Given the description of an element on the screen output the (x, y) to click on. 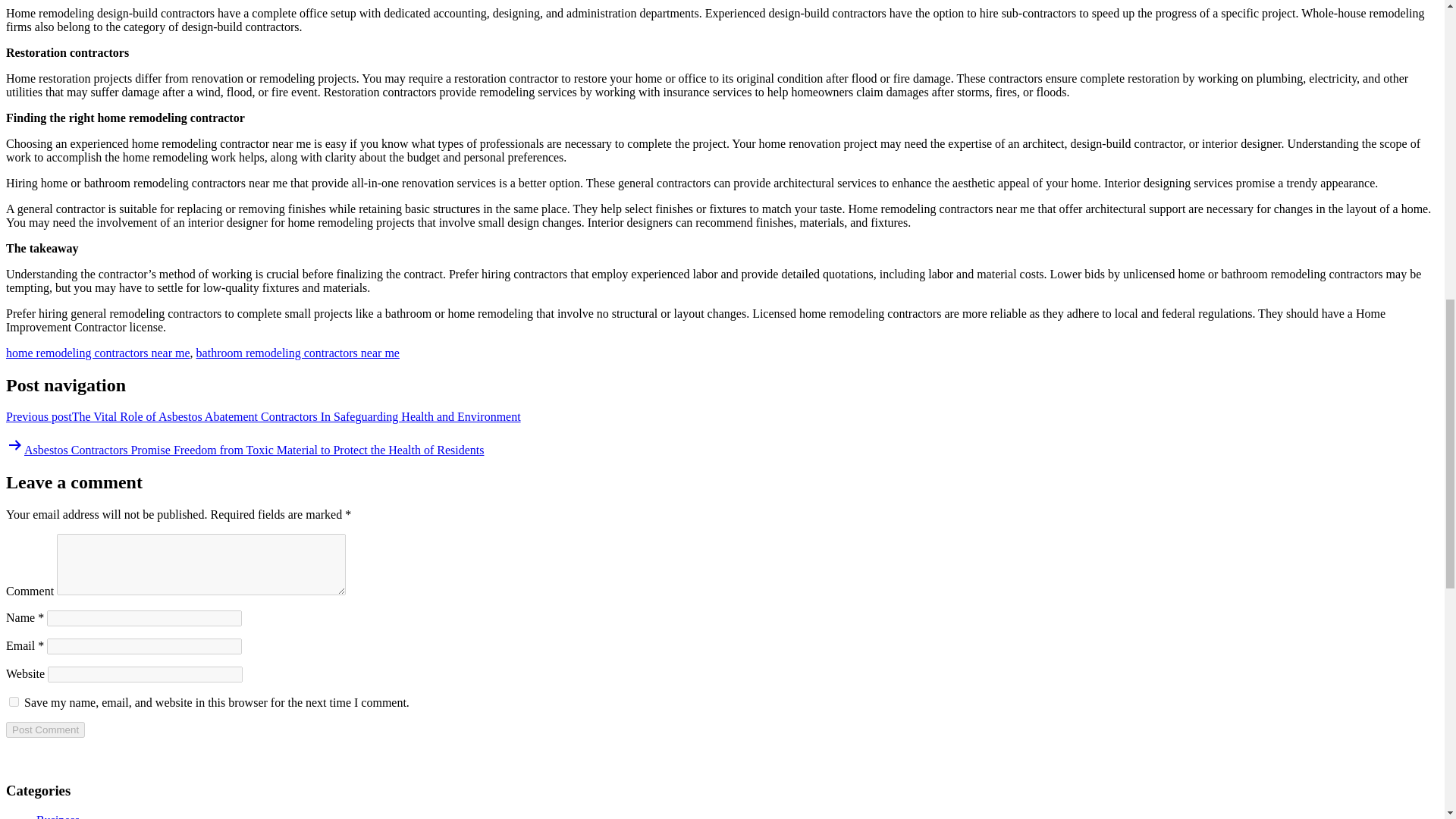
bathroom remodeling contractors near me (297, 352)
yes (13, 701)
Post Comment (44, 729)
Business (58, 816)
Post Comment (44, 729)
home remodeling contractors near me (97, 352)
